Given the description of an element on the screen output the (x, y) to click on. 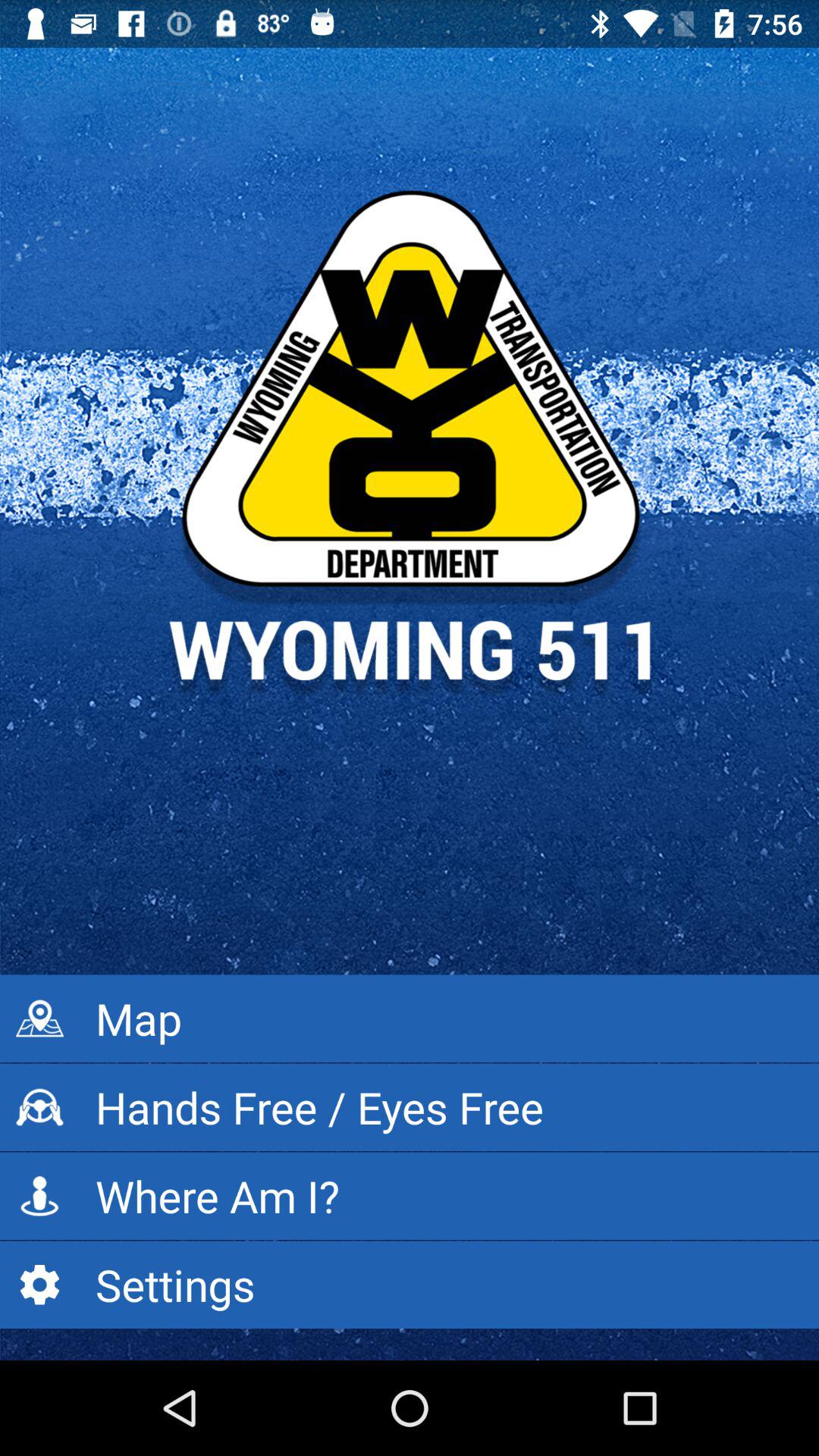
launch the app above the settings app (409, 1195)
